Given the description of an element on the screen output the (x, y) to click on. 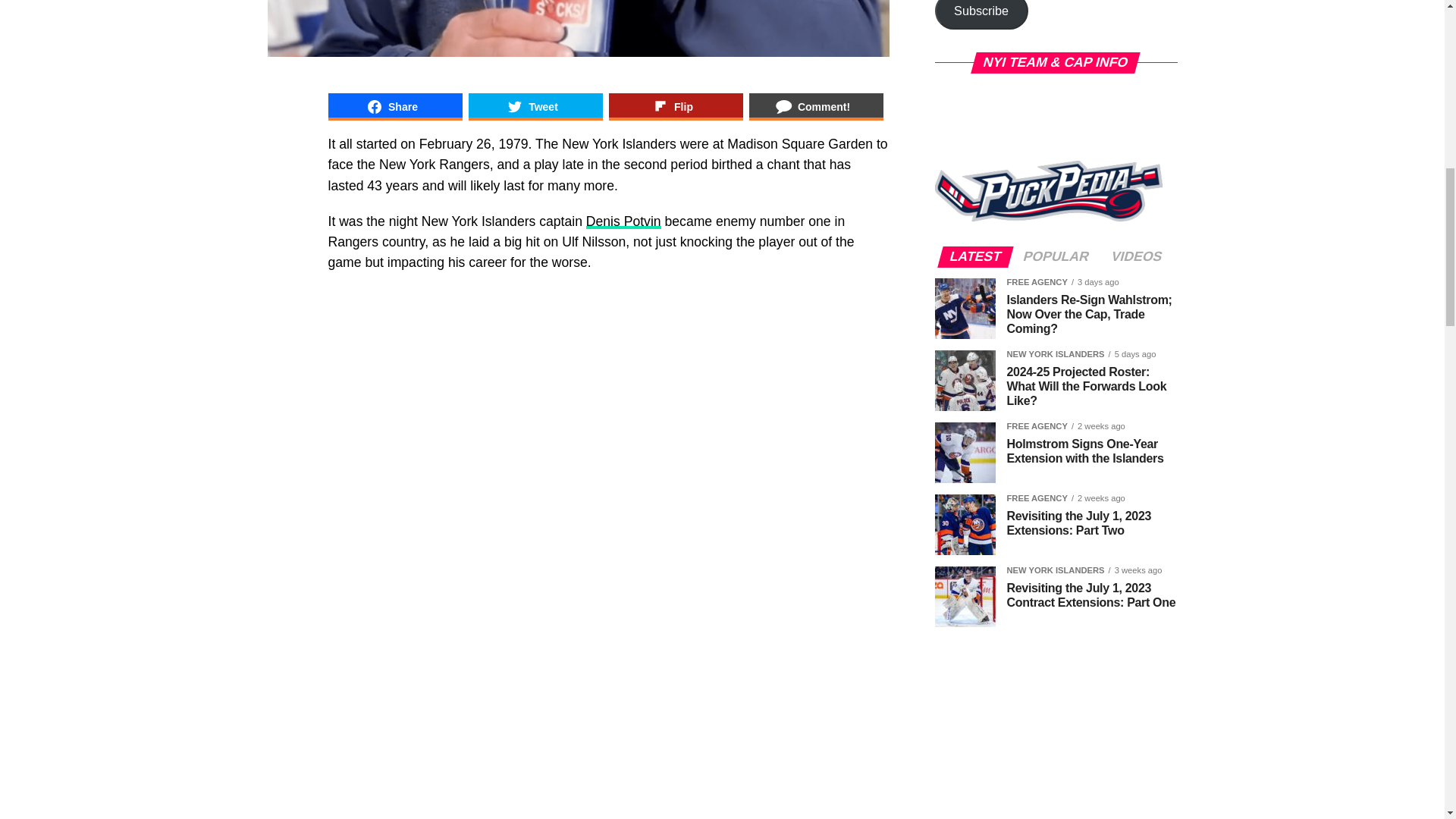
Share on Comment! (816, 106)
Share on Tweet (535, 106)
Share on Flip (675, 106)
Share on Share (394, 106)
